Given the description of an element on the screen output the (x, y) to click on. 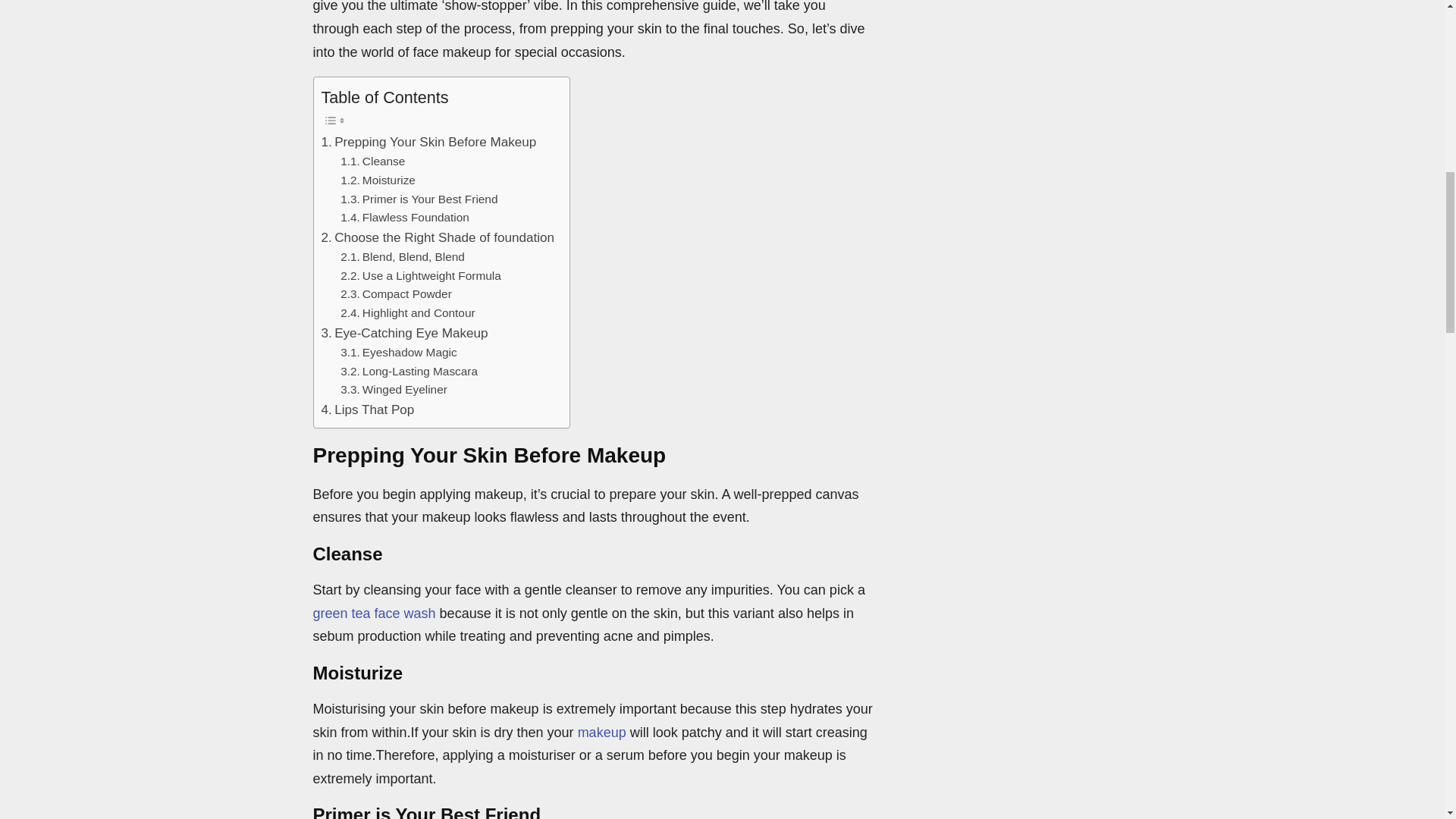
Choose the Right Shade of foundation (437, 237)
Primer is Your Best Friend (418, 199)
Prepping Your Skin Before Makeup (429, 141)
Cleanse (372, 161)
Highlight and Contour (407, 312)
Moisturize (377, 180)
Cleanse (372, 161)
Blend, Blend, Blend (402, 257)
Compact Powder (395, 294)
Flawless Foundation (404, 217)
Moisturize (377, 180)
Blend, Blend, Blend (402, 257)
Use a Lightweight Formula (420, 275)
Choose the Right Shade of foundation (437, 237)
Flawless Foundation (404, 217)
